Given the description of an element on the screen output the (x, y) to click on. 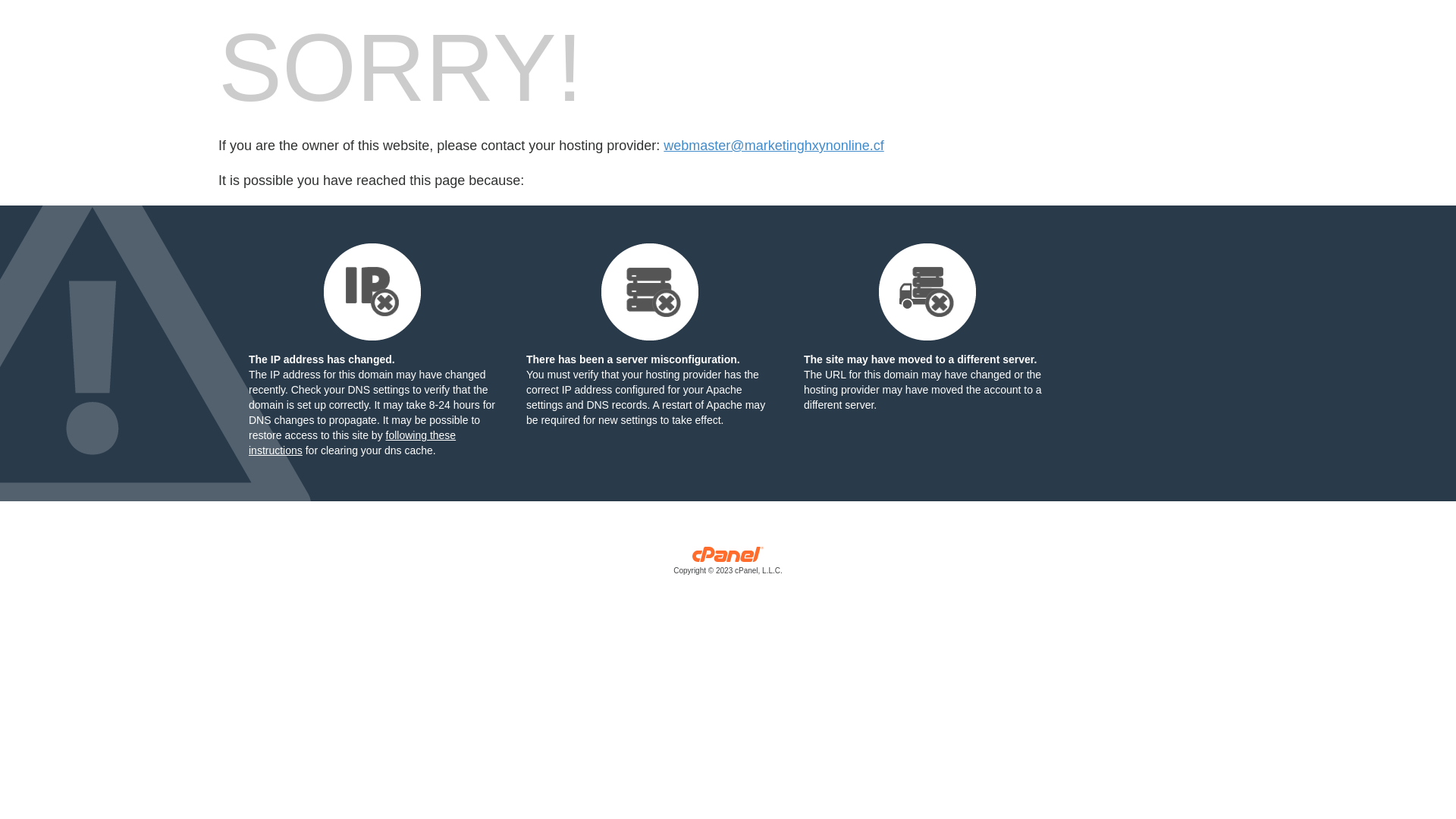
following these instructions Element type: text (351, 442)
webmaster@marketinghxynonline.cf Element type: text (773, 145)
